Given the description of an element on the screen output the (x, y) to click on. 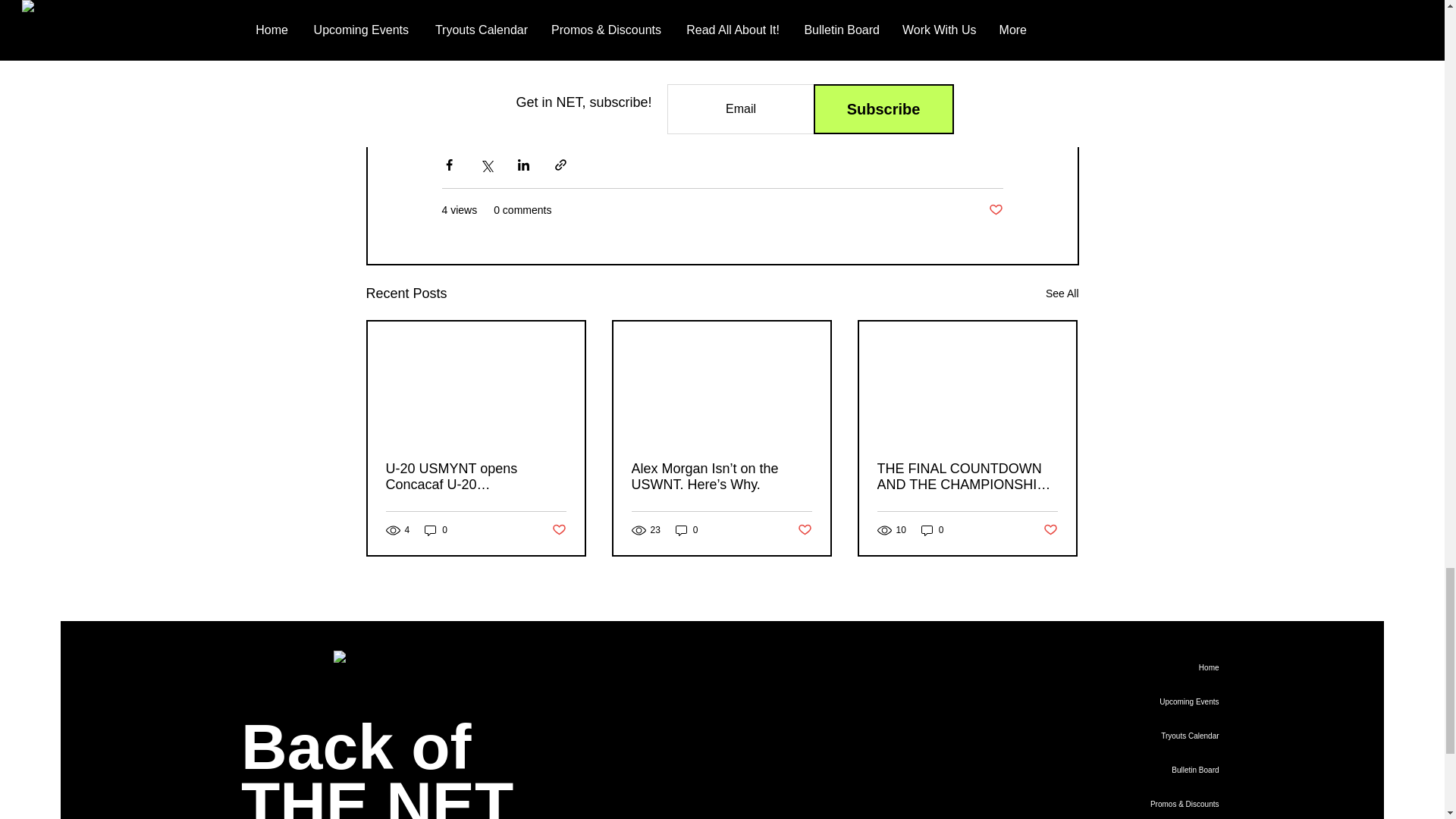
Post not marked as liked (558, 530)
Post not marked as liked (804, 530)
See All (1061, 293)
Post not marked as liked (995, 210)
0 (435, 530)
0 (687, 530)
Contact us (566, 72)
request your appointment online now (831, 72)
